Given the description of an element on the screen output the (x, y) to click on. 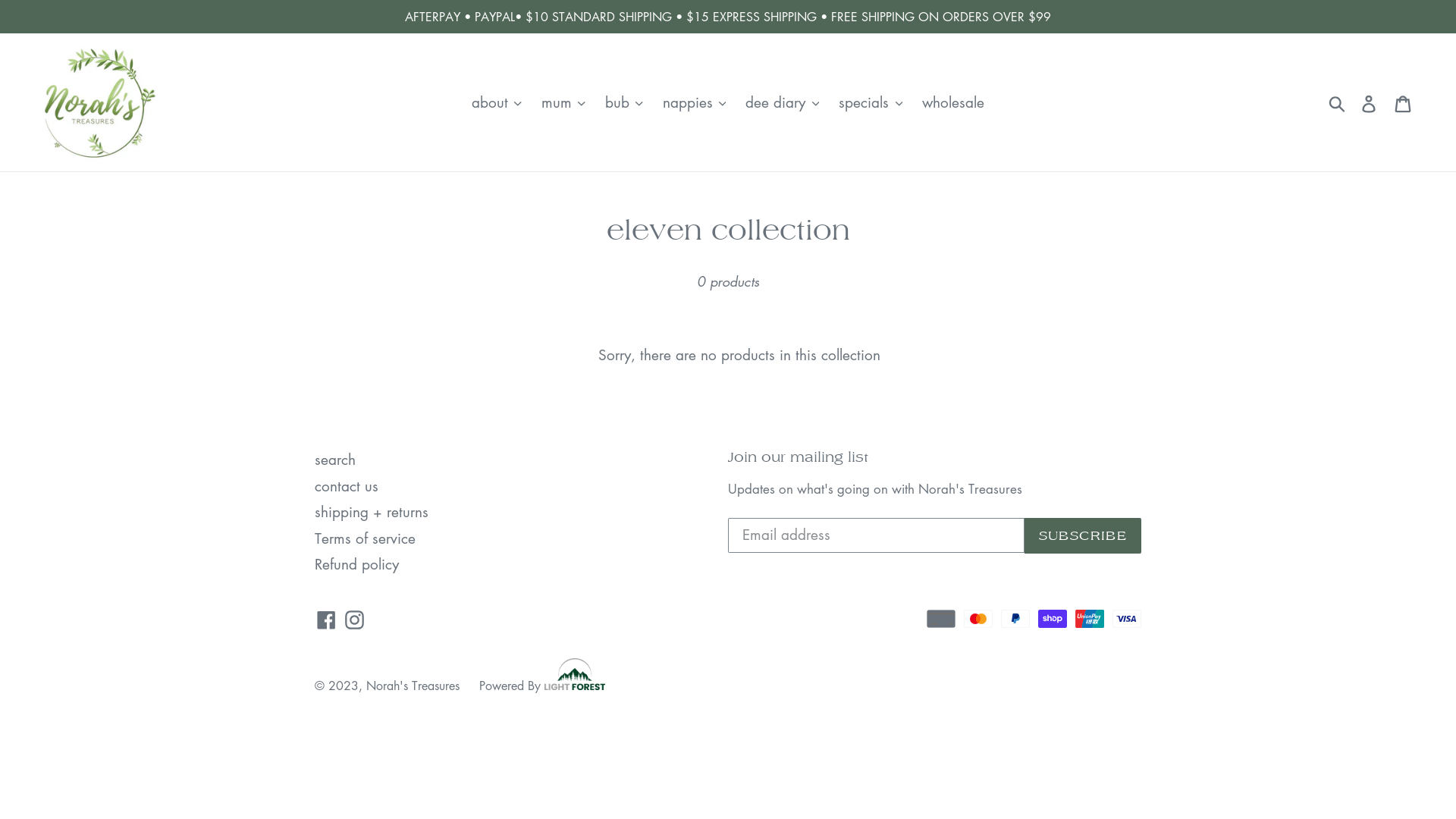
Submit Element type: text (1337, 101)
Cart Element type: text (1403, 102)
contact us Element type: text (346, 485)
search Element type: text (334, 458)
Refund policy Element type: text (356, 563)
SUBSCRIBE Element type: text (1082, 535)
Log in Element type: text (1369, 102)
shipping + returns Element type: text (371, 511)
Norah's Treasures Element type: text (412, 685)
Facebook Element type: text (326, 618)
Instagram Element type: text (354, 618)
wholesale Element type: text (952, 102)
Terms of service Element type: text (364, 537)
